Given the description of an element on the screen output the (x, y) to click on. 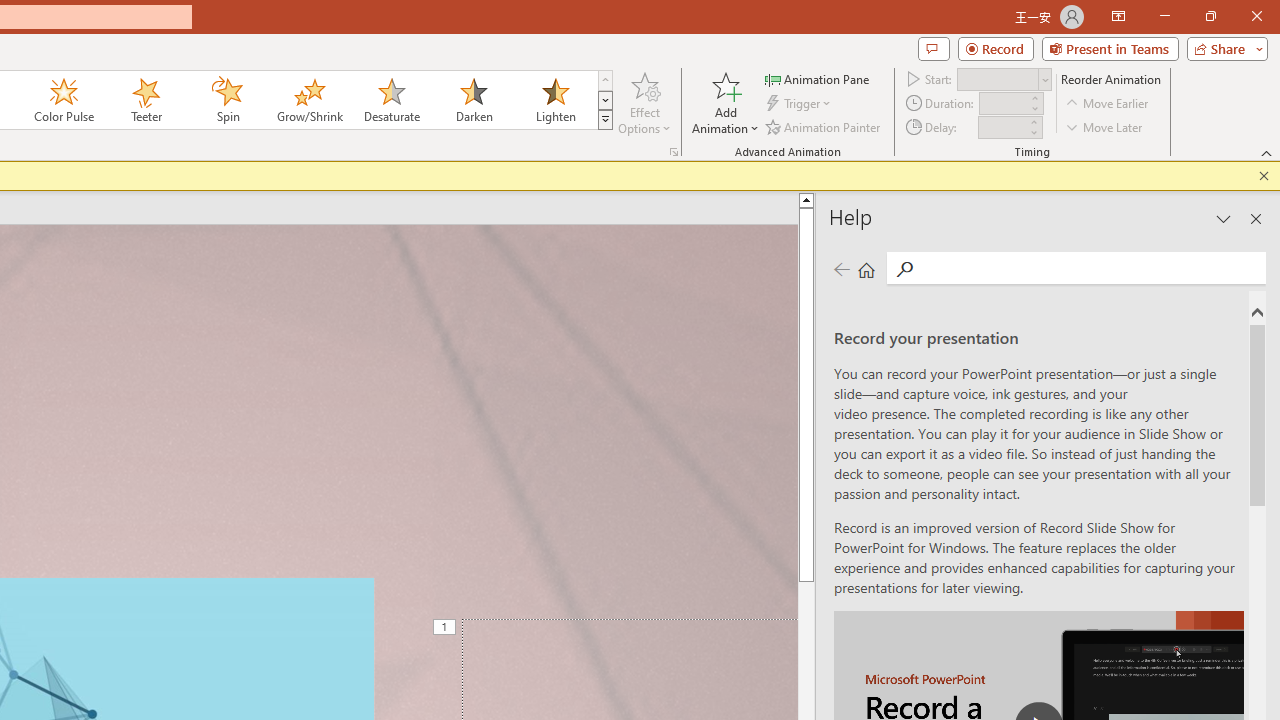
Animation Delay (1002, 127)
Animation Styles (605, 120)
Spin (227, 100)
Move Later (1105, 126)
Add Animation (725, 102)
Animation Painter (824, 126)
Previous page (841, 269)
Move Earlier (1107, 103)
